Given the description of an element on the screen output the (x, y) to click on. 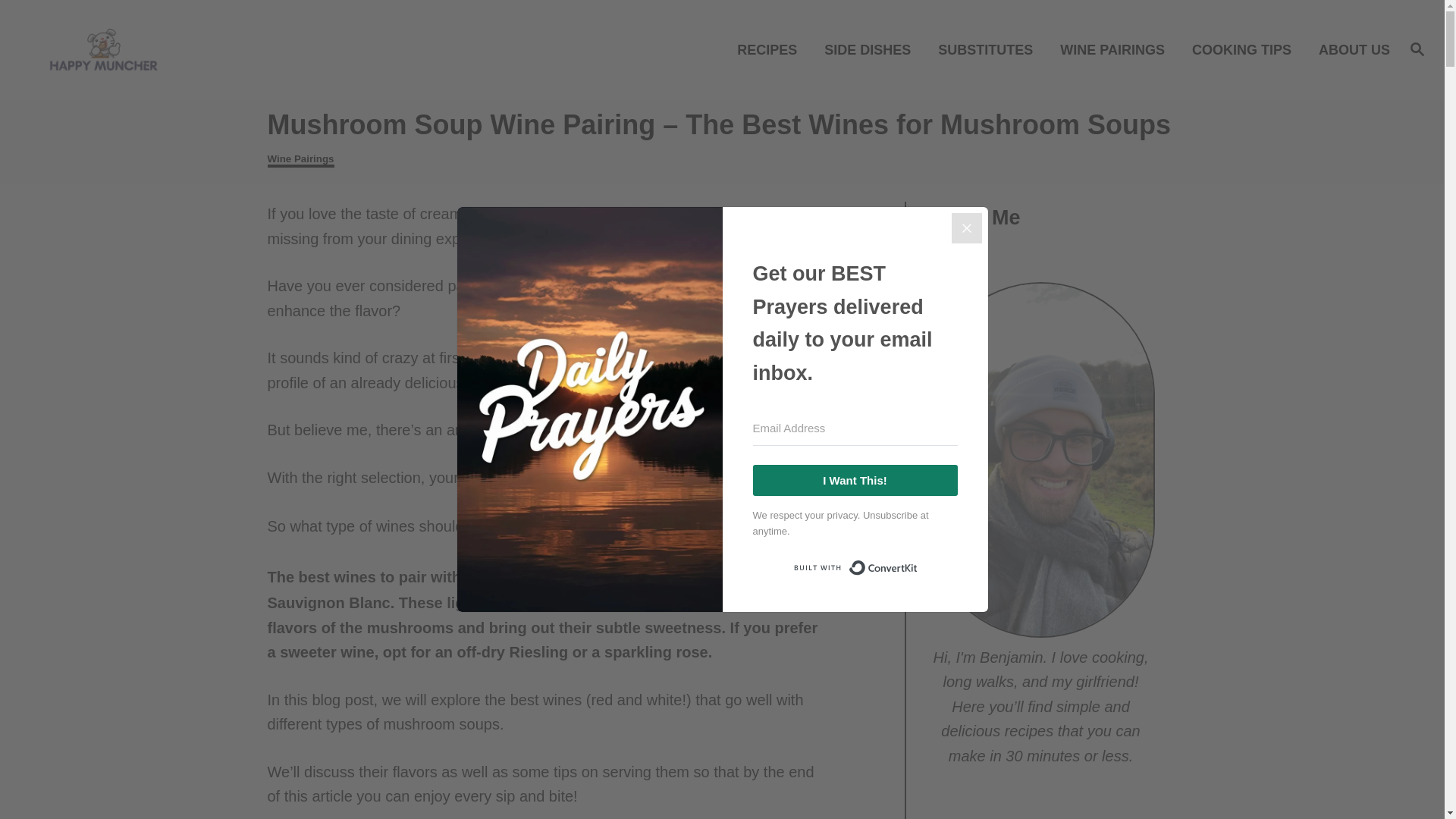
Wine Pairings (299, 160)
COOKING TIPS (1245, 49)
Magnifying Glass (1416, 48)
RECIPES (771, 49)
ABOUT US (1349, 49)
mushroom soup (525, 578)
SIDE DISHES (871, 49)
mushroom soup (525, 578)
SUBSTITUTES (989, 49)
mushroom soup (617, 527)
I Want This! (854, 480)
Happy Muncher (187, 49)
Built with ConvertKit (854, 567)
mushroom soup (617, 527)
WINE PAIRINGS (1116, 49)
